Given the description of an element on the screen output the (x, y) to click on. 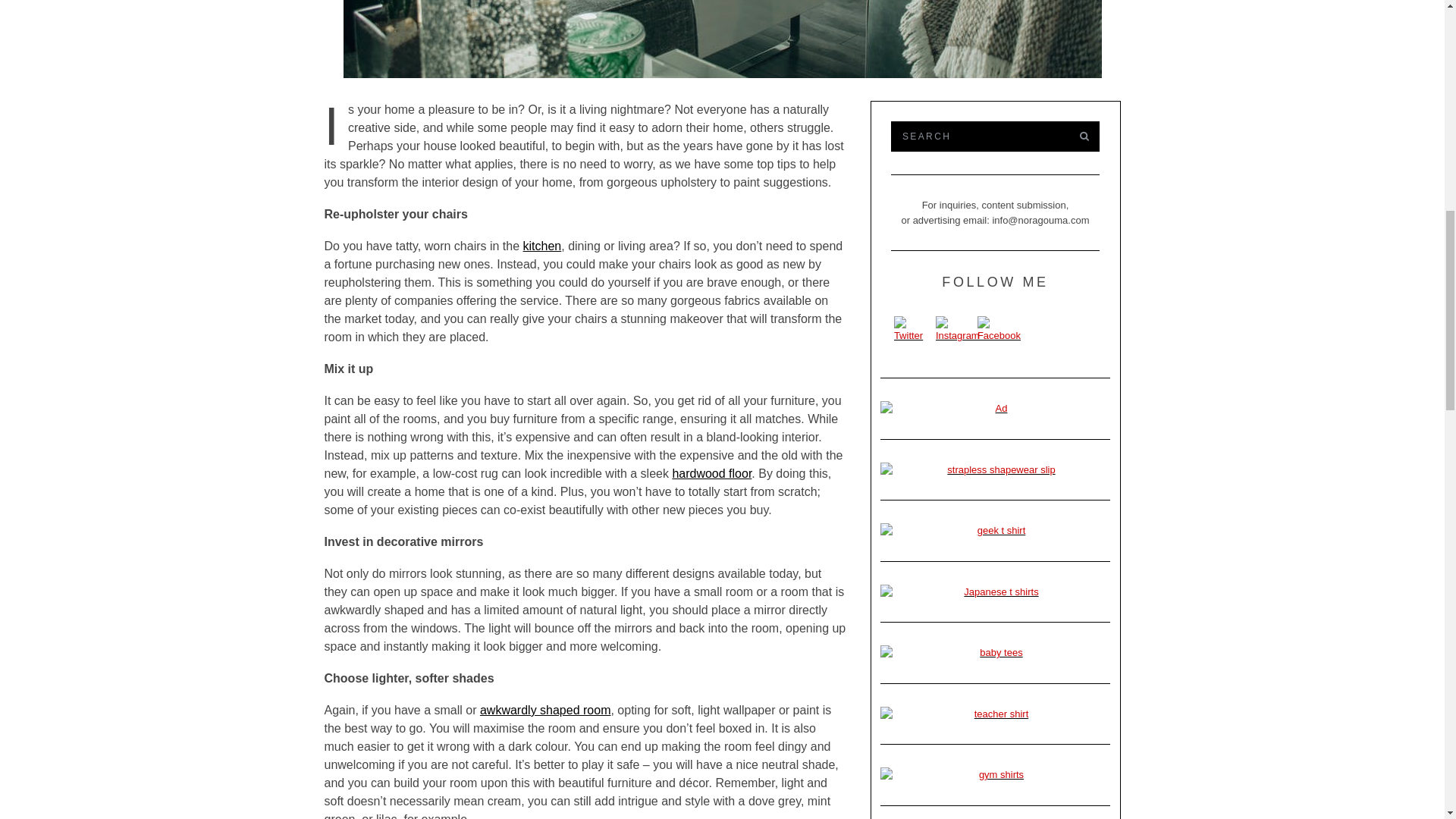
baby tees (994, 652)
geek t shirt (994, 530)
gym shirts (994, 774)
Twitter (913, 329)
teacher shirt (994, 713)
Facebook (998, 329)
Japanese t shirts (994, 591)
Instagram (957, 329)
Search (976, 136)
